Given the description of an element on the screen output the (x, y) to click on. 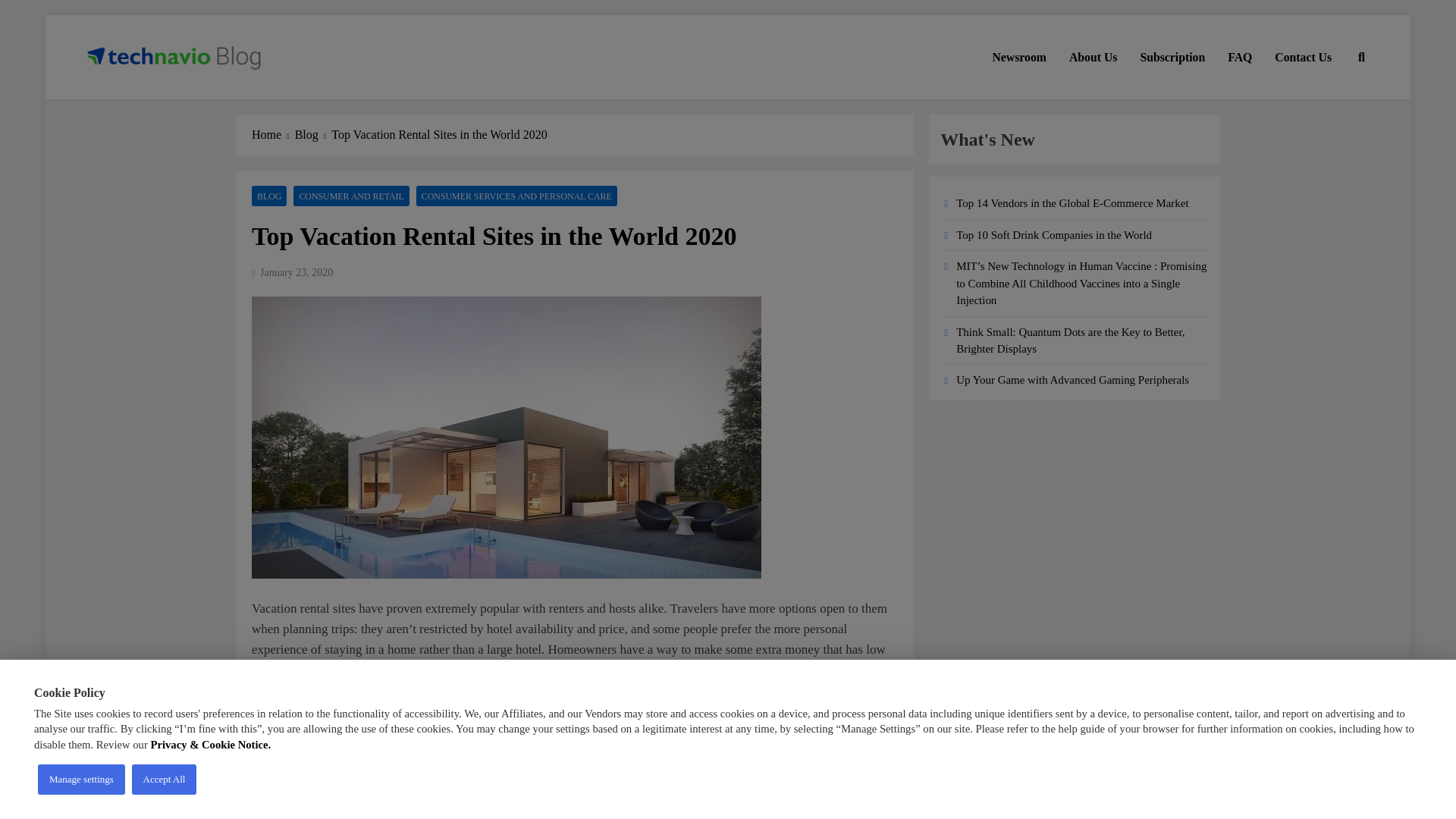
Technavio (138, 100)
Newsroom (1019, 56)
Top 10 Soft Drink Companies in the World (1053, 234)
Top 14 Vendors in the Global E-Commerce Market (1072, 203)
BLOG (268, 195)
Home (273, 135)
About Us (1093, 56)
FAQ (1239, 56)
